Given the description of an element on the screen output the (x, y) to click on. 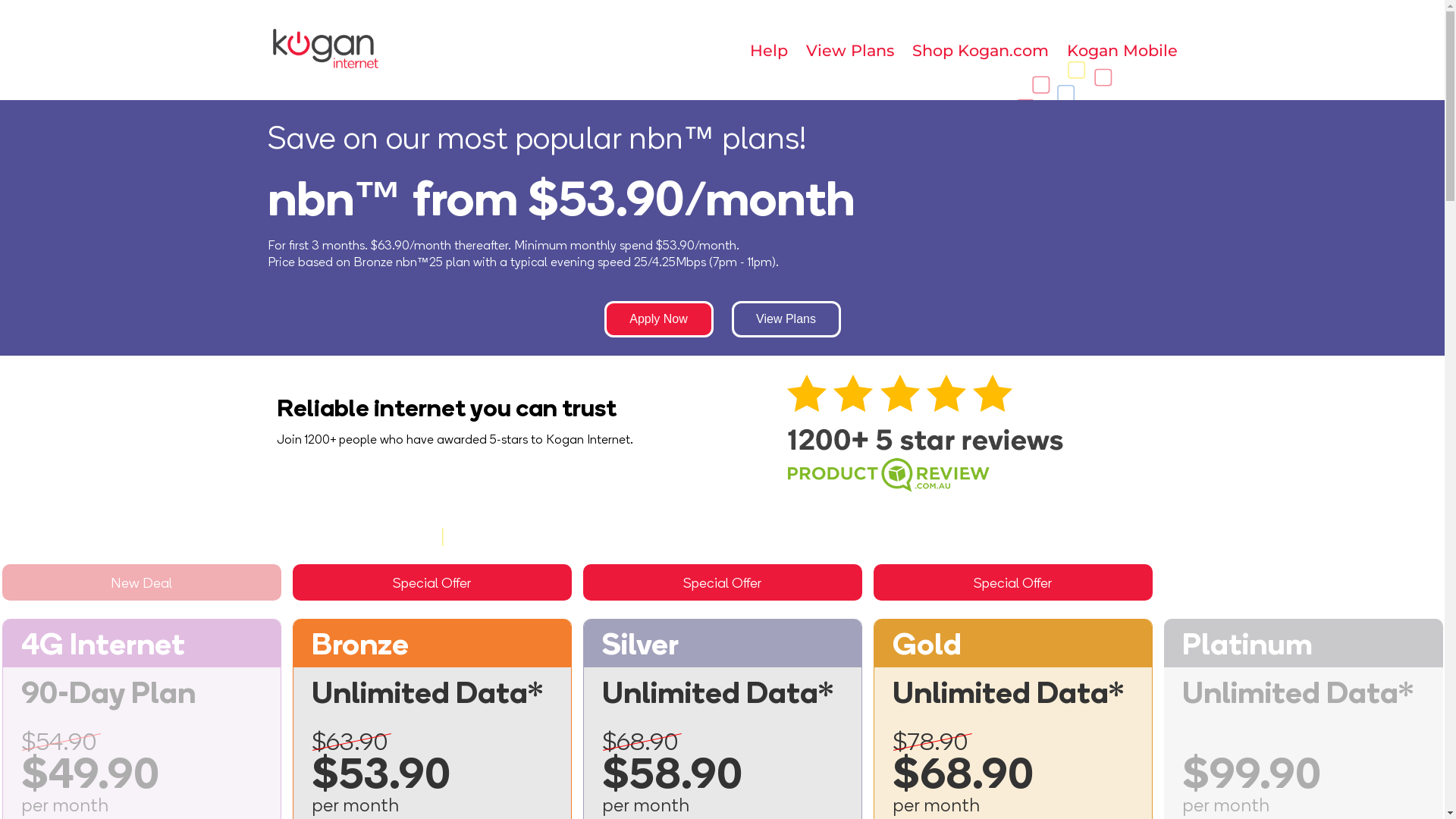
Shop Kogan.com Element type: text (979, 50)
View Plans Element type: text (849, 50)
Help Element type: text (768, 50)
Apply Now Element type: text (657, 319)
Kogan Mobile Element type: text (1121, 50)
View Plans Element type: text (785, 319)
